Given the description of an element on the screen output the (x, y) to click on. 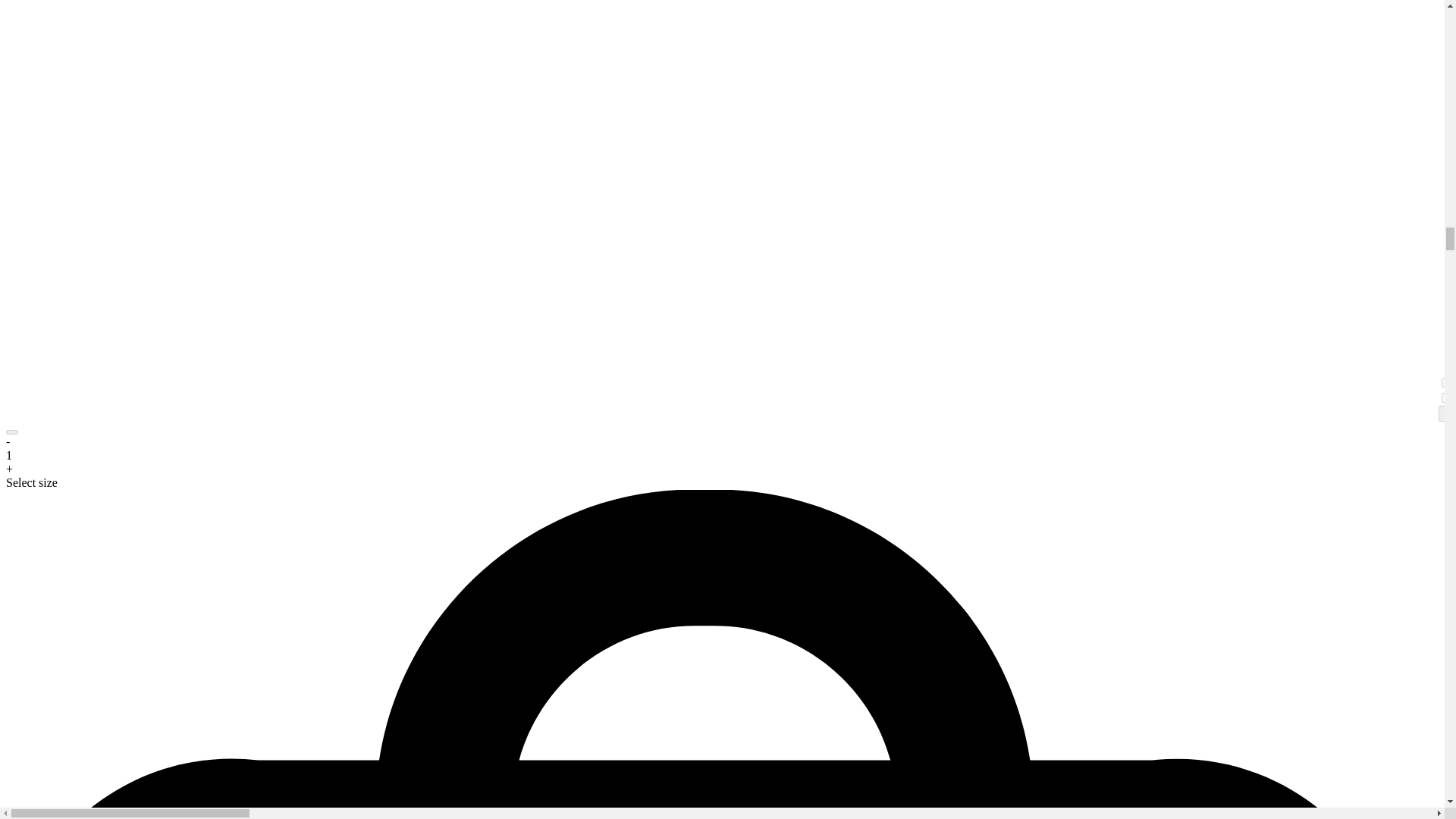
on (1446, 397)
on (1446, 382)
